Given the description of an element on the screen output the (x, y) to click on. 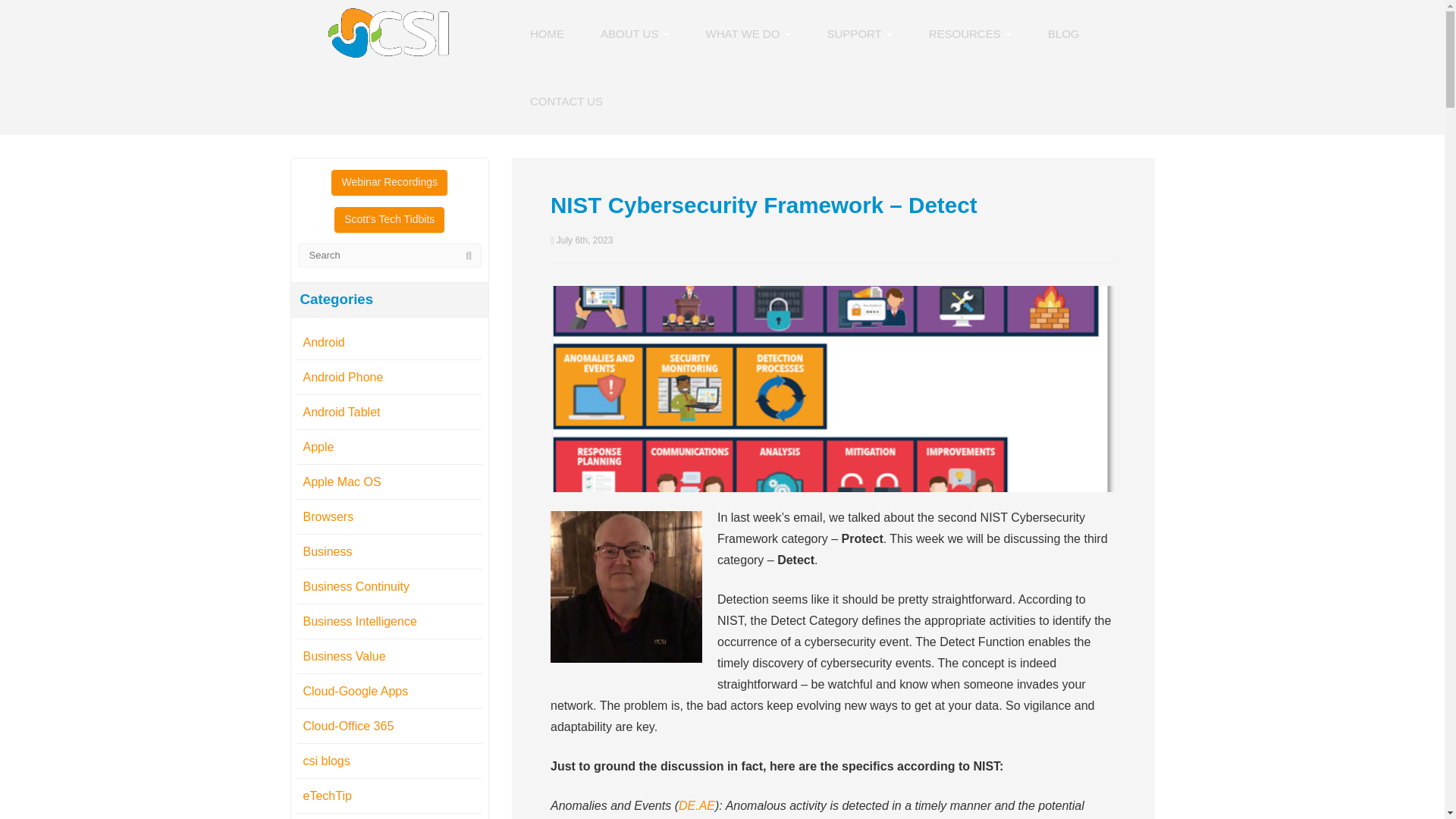
Scott's Tech Tidbits (389, 219)
Webinar Recordings (388, 182)
BLOG (1063, 33)
SUPPORT (860, 33)
ABOUT US (634, 33)
WHAT WE DO (748, 33)
HOME (547, 33)
CONTACT US (566, 101)
RESOURCES (970, 33)
DE.AE (696, 805)
